Given the description of an element on the screen output the (x, y) to click on. 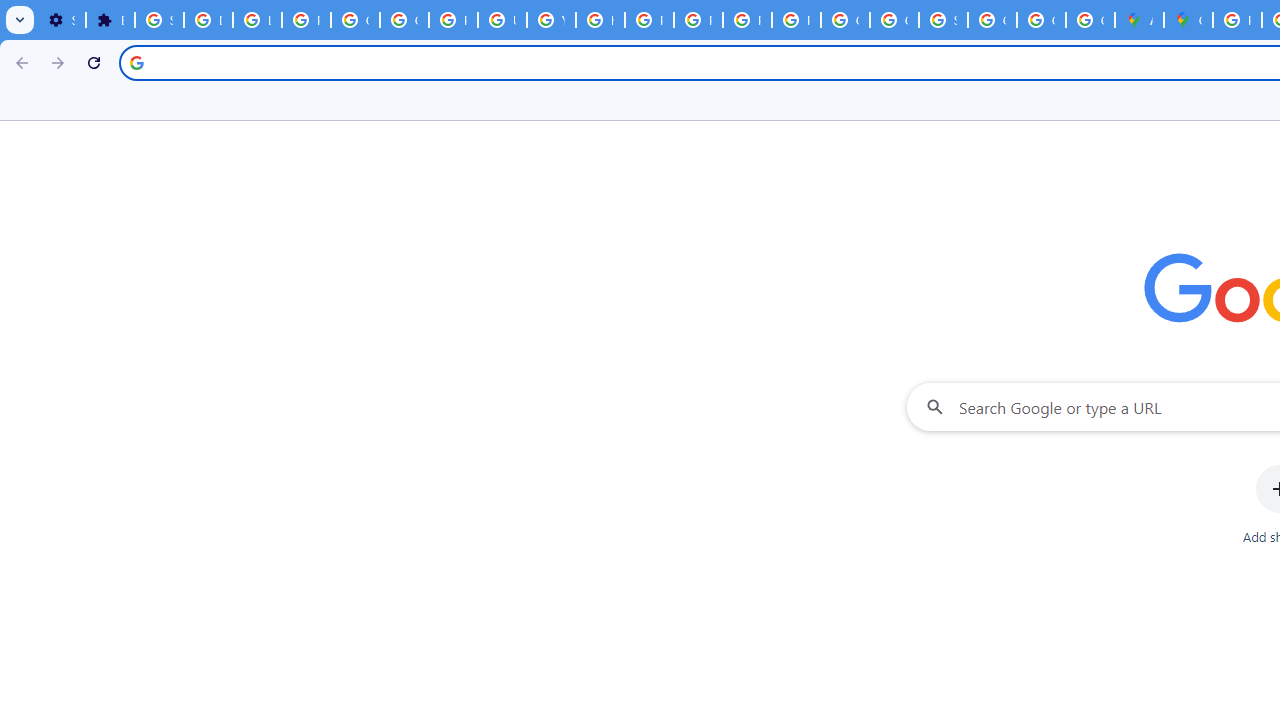
YouTube (551, 20)
Sign in - Google Accounts (159, 20)
Google Account Help (355, 20)
Delete photos & videos - Computer - Google Photos Help (208, 20)
